Given the description of an element on the screen output the (x, y) to click on. 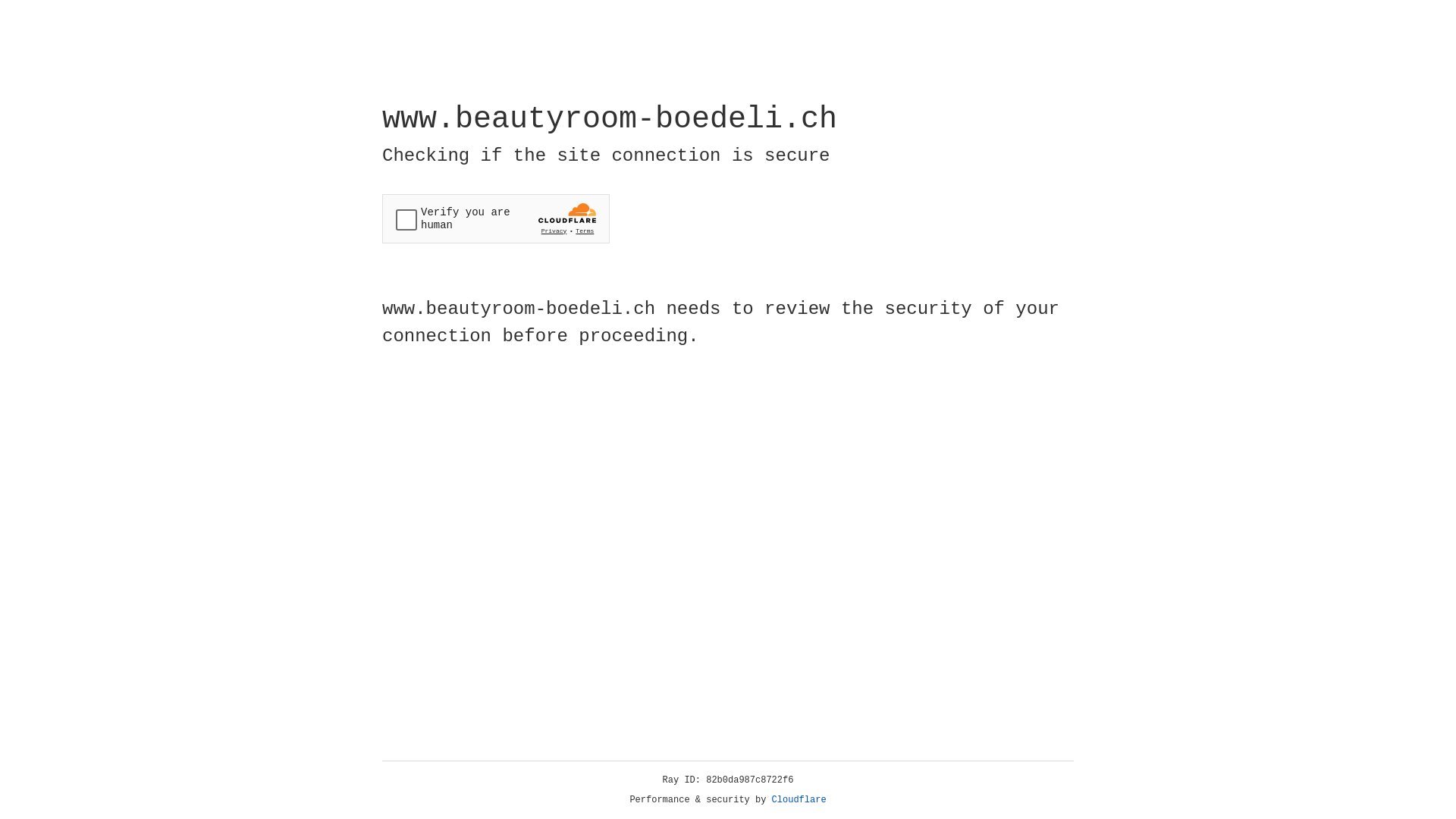
Cloudflare Element type: text (798, 799)
Widget containing a Cloudflare security challenge Element type: hover (495, 218)
